Given the description of an element on the screen output the (x, y) to click on. 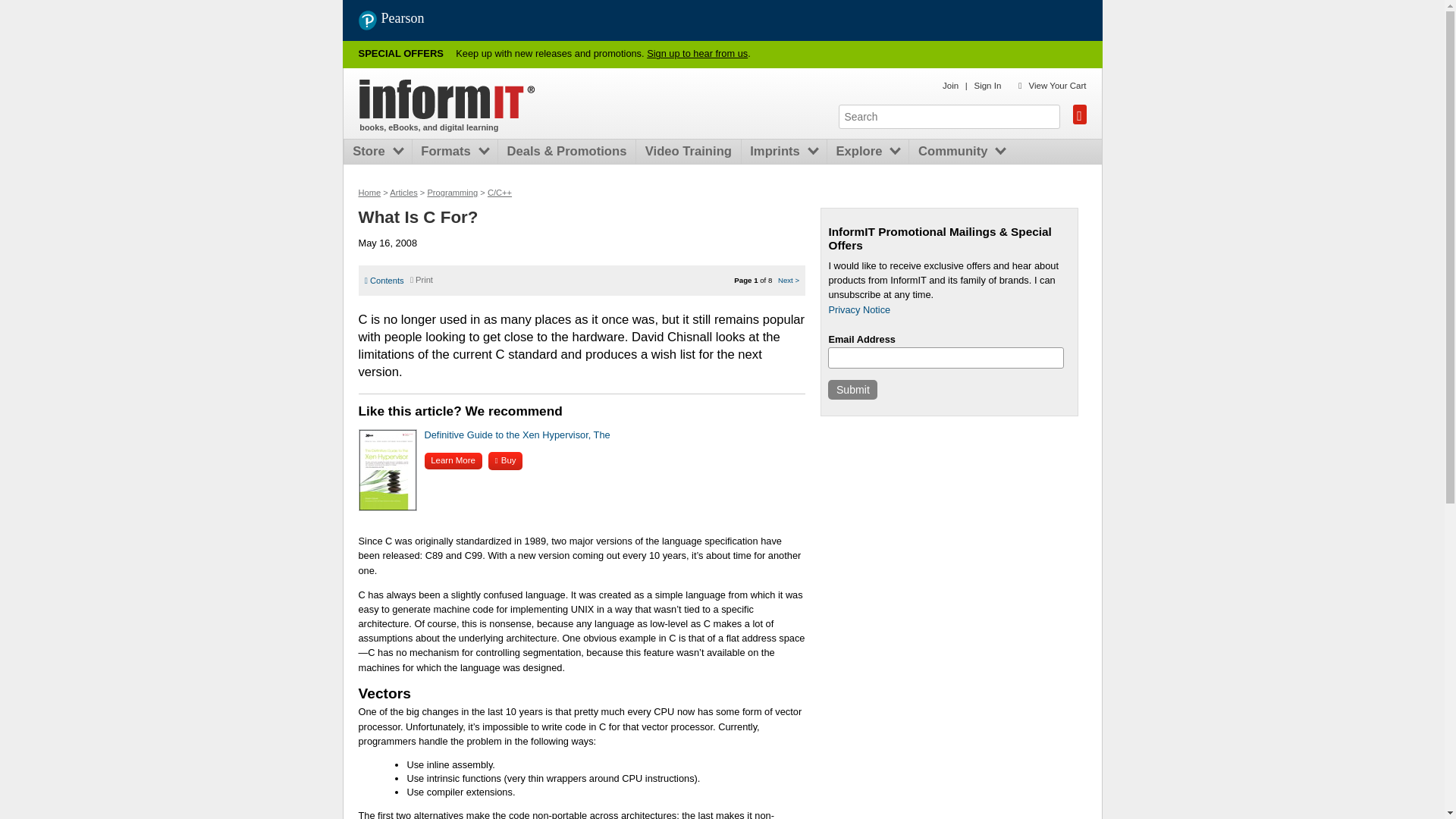
Privacy Notice (858, 309)
Print (421, 279)
Articles (403, 192)
Join (950, 85)
Programming (451, 192)
Home (369, 192)
Submit (852, 389)
Home (446, 98)
Submit (852, 389)
Sign up to hear from us (697, 52)
Learn More (453, 460)
Sign In (987, 85)
View Your Cart (1057, 85)
Definitive Guide to the Xen Hypervisor, The (517, 434)
